Given the description of an element on the screen output the (x, y) to click on. 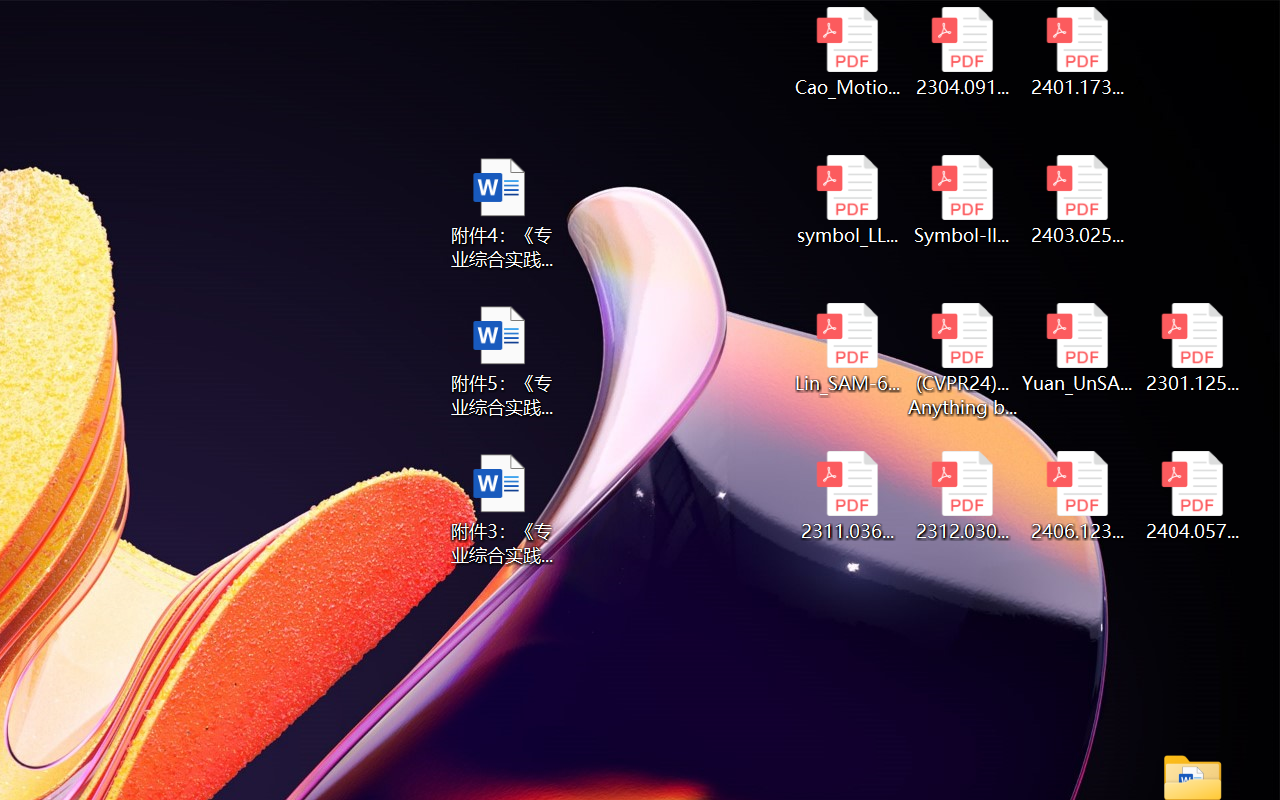
symbol_LLM.pdf (846, 200)
